Given the description of an element on the screen output the (x, y) to click on. 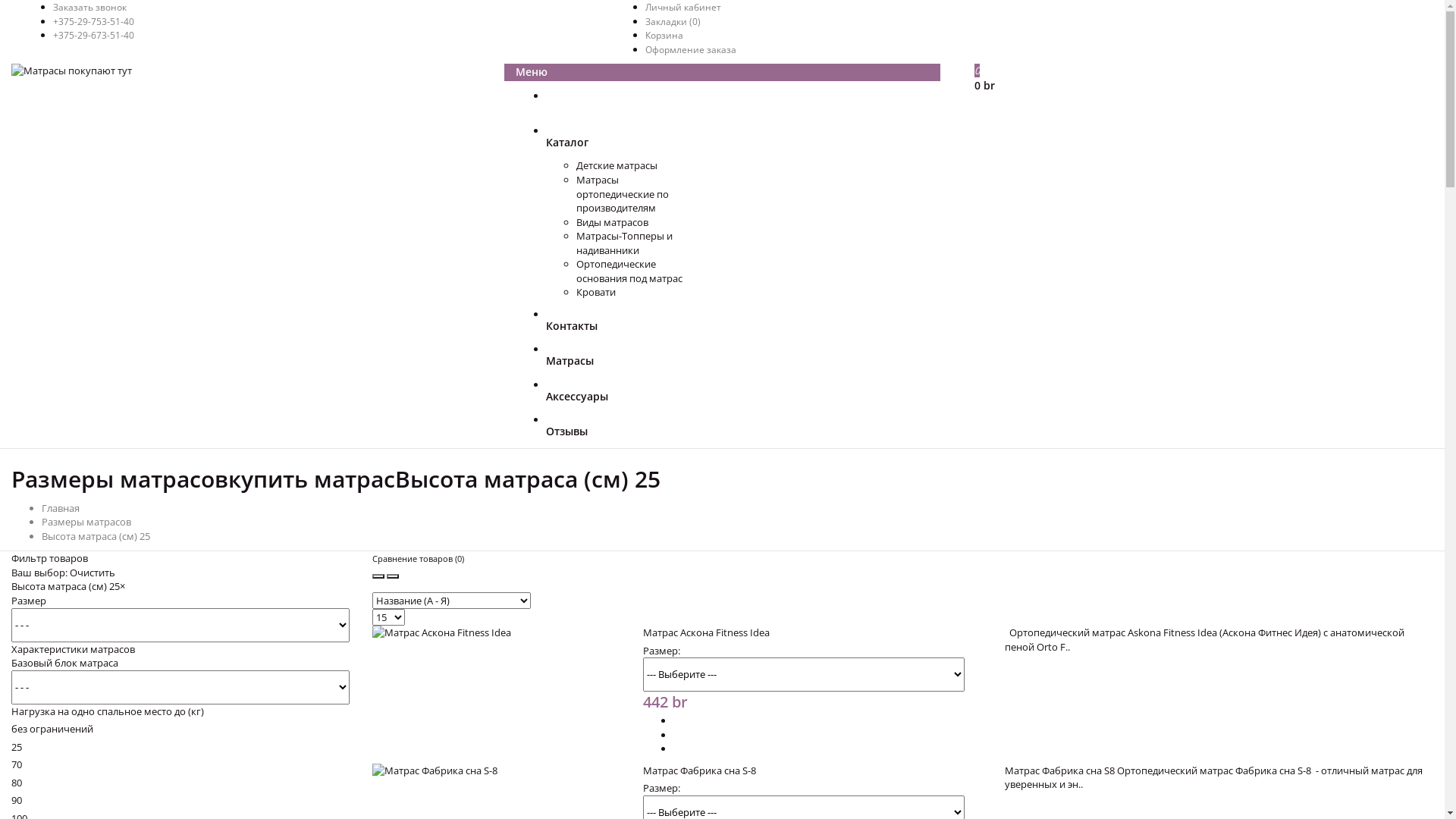
+375-29-753-51-40 Element type: text (93, 21)
+375-29-673-51-40 Element type: text (93, 34)
List Element type: hover (392, 576)
0
0 br Element type: text (1203, 78)
Grid Element type: hover (378, 576)
    Element type: text (737, 108)
